Given the description of an element on the screen output the (x, y) to click on. 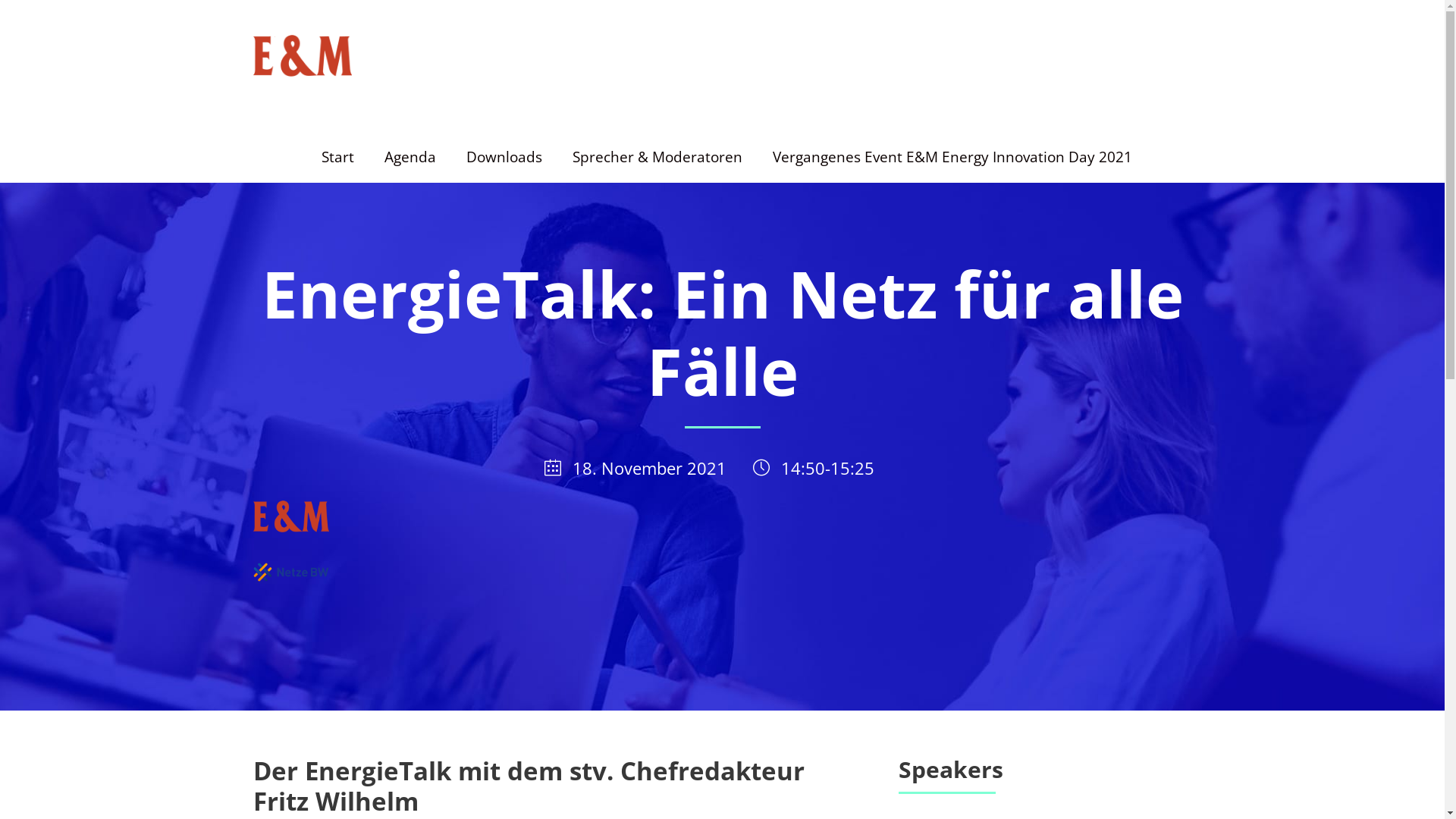
Start Element type: text (337, 163)
logo_small Element type: hover (302, 55)
Downloads Element type: text (503, 163)
Sprecher & Moderatoren Element type: text (656, 163)
Vergangenes Event E&M Energy Innovation Day 2021 Element type: text (951, 163)
Agenda Element type: text (409, 163)
